Given the description of an element on the screen output the (x, y) to click on. 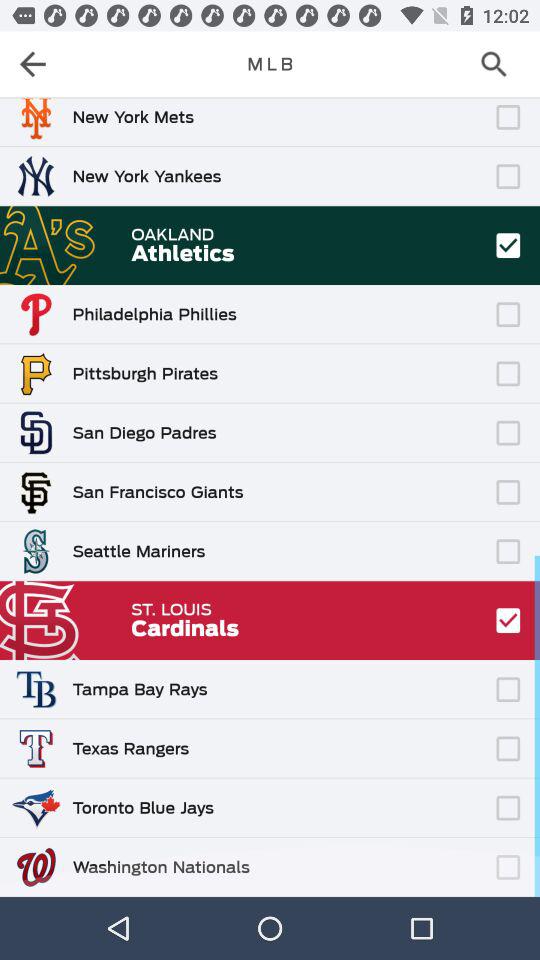
search (500, 64)
